Given the description of an element on the screen output the (x, y) to click on. 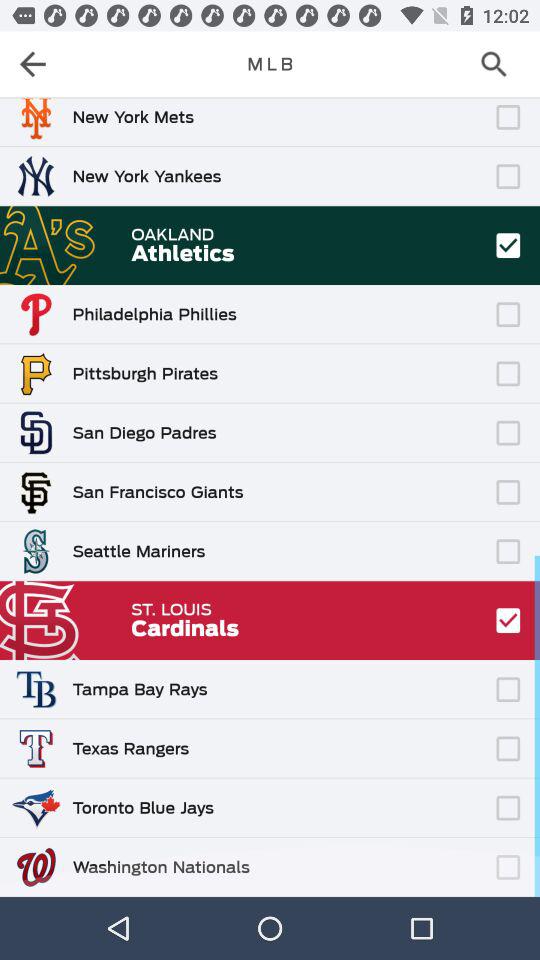
search (500, 64)
